Given the description of an element on the screen output the (x, y) to click on. 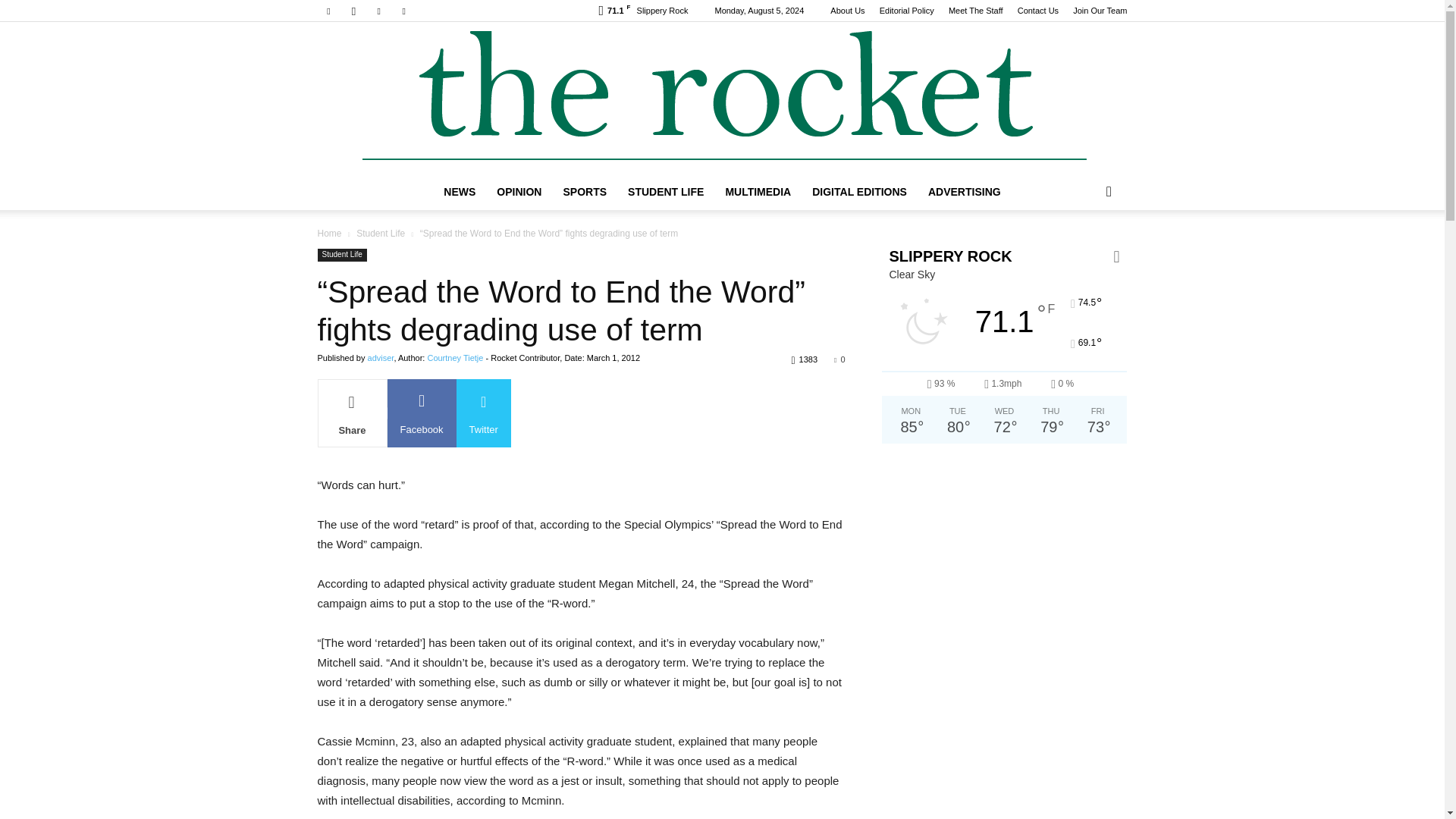
About Us (846, 10)
Youtube (403, 10)
Meet The Staff (976, 10)
SPORTS (584, 191)
Twitter (379, 10)
DIGITAL EDITIONS (859, 191)
Contact Us (1037, 10)
STUDENT LIFE (665, 191)
Home (328, 233)
Student Life (341, 254)
View all posts in Student Life (380, 233)
Editorial Policy (906, 10)
MULTIMEDIA (758, 191)
Search (1085, 252)
OPINION (518, 191)
